Given the description of an element on the screen output the (x, y) to click on. 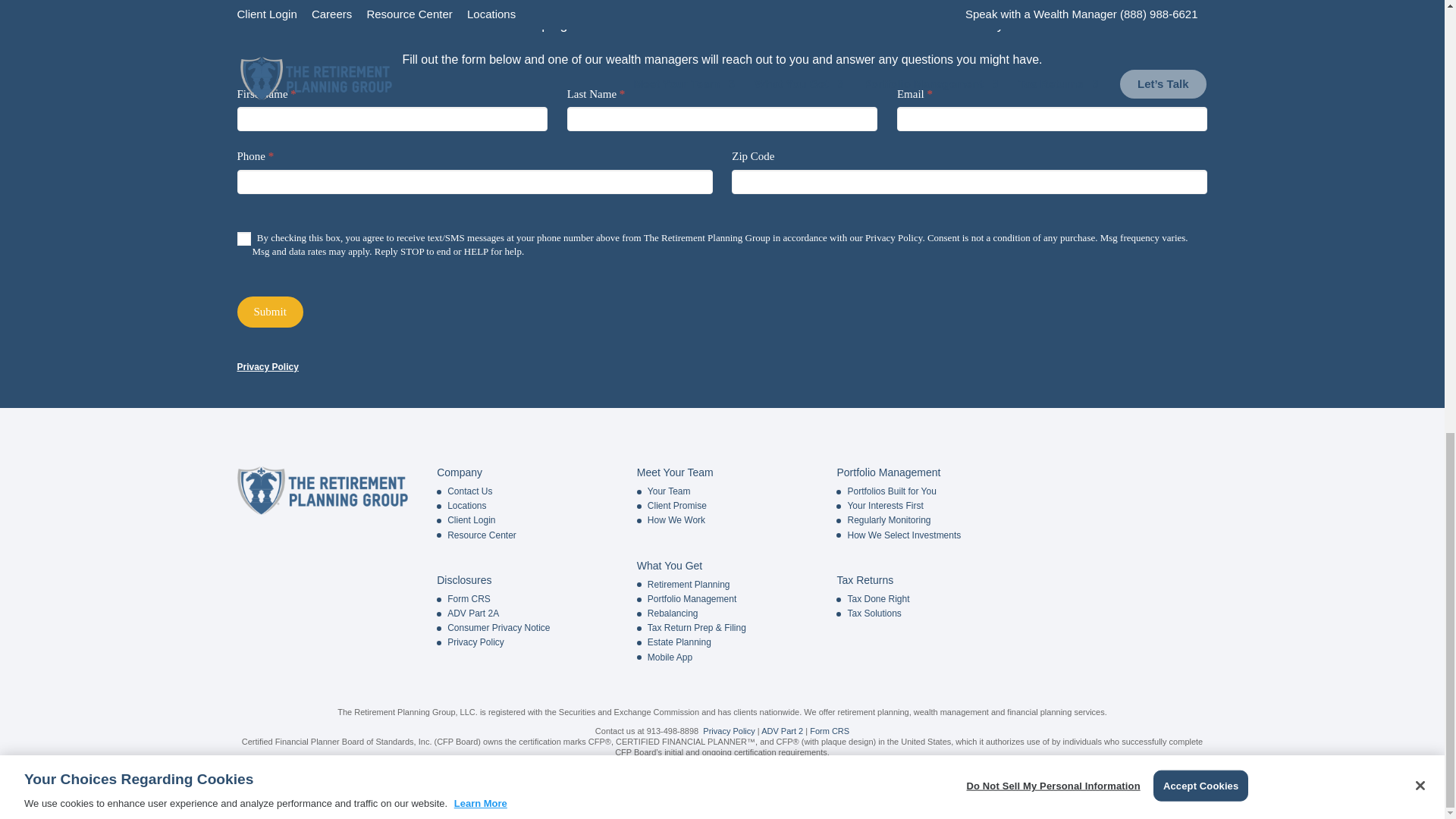
TRUE (242, 238)
The Retirement Planning Group (321, 490)
